Given the description of an element on the screen output the (x, y) to click on. 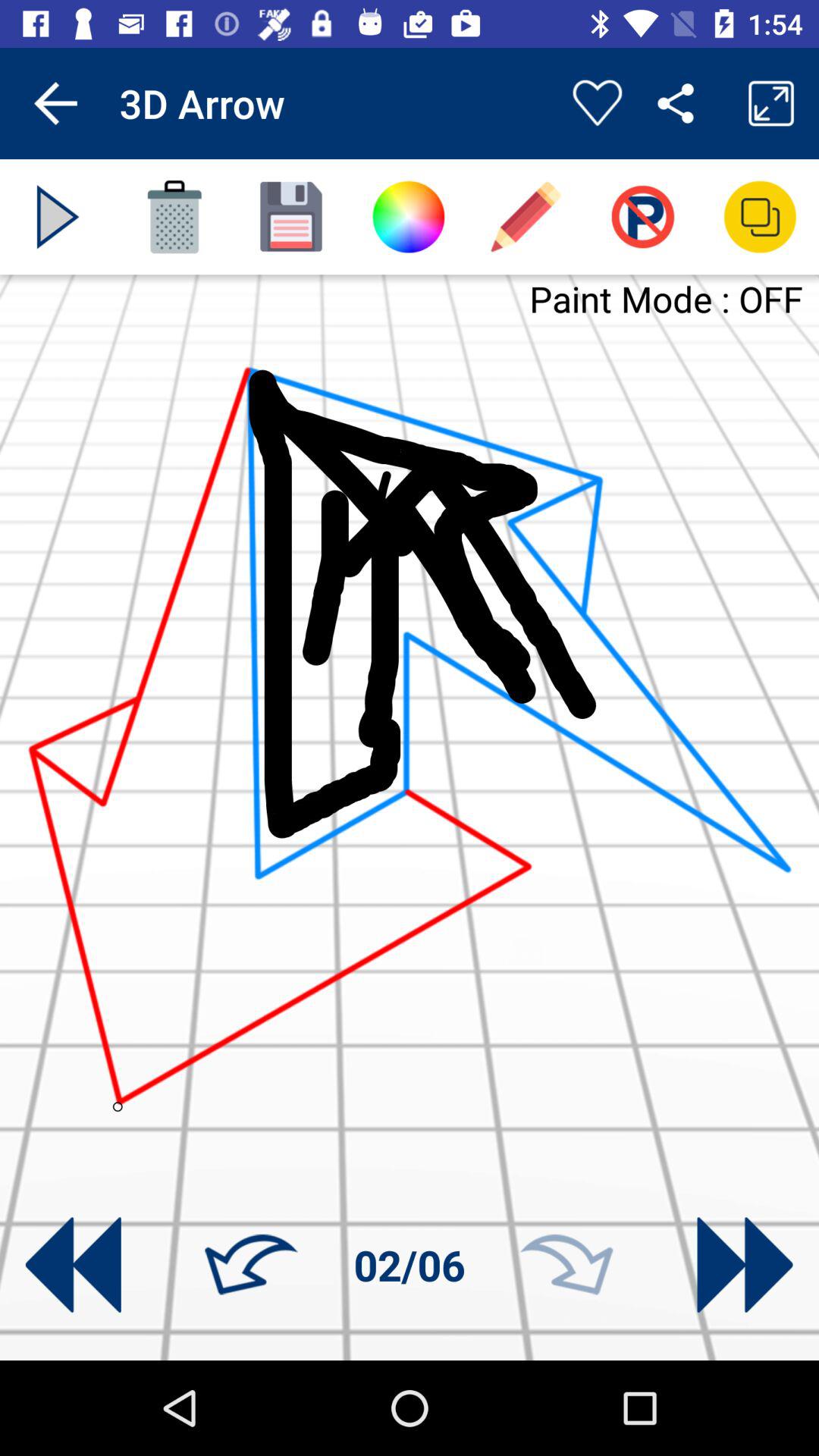
go forward (566, 1264)
